Given the description of an element on the screen output the (x, y) to click on. 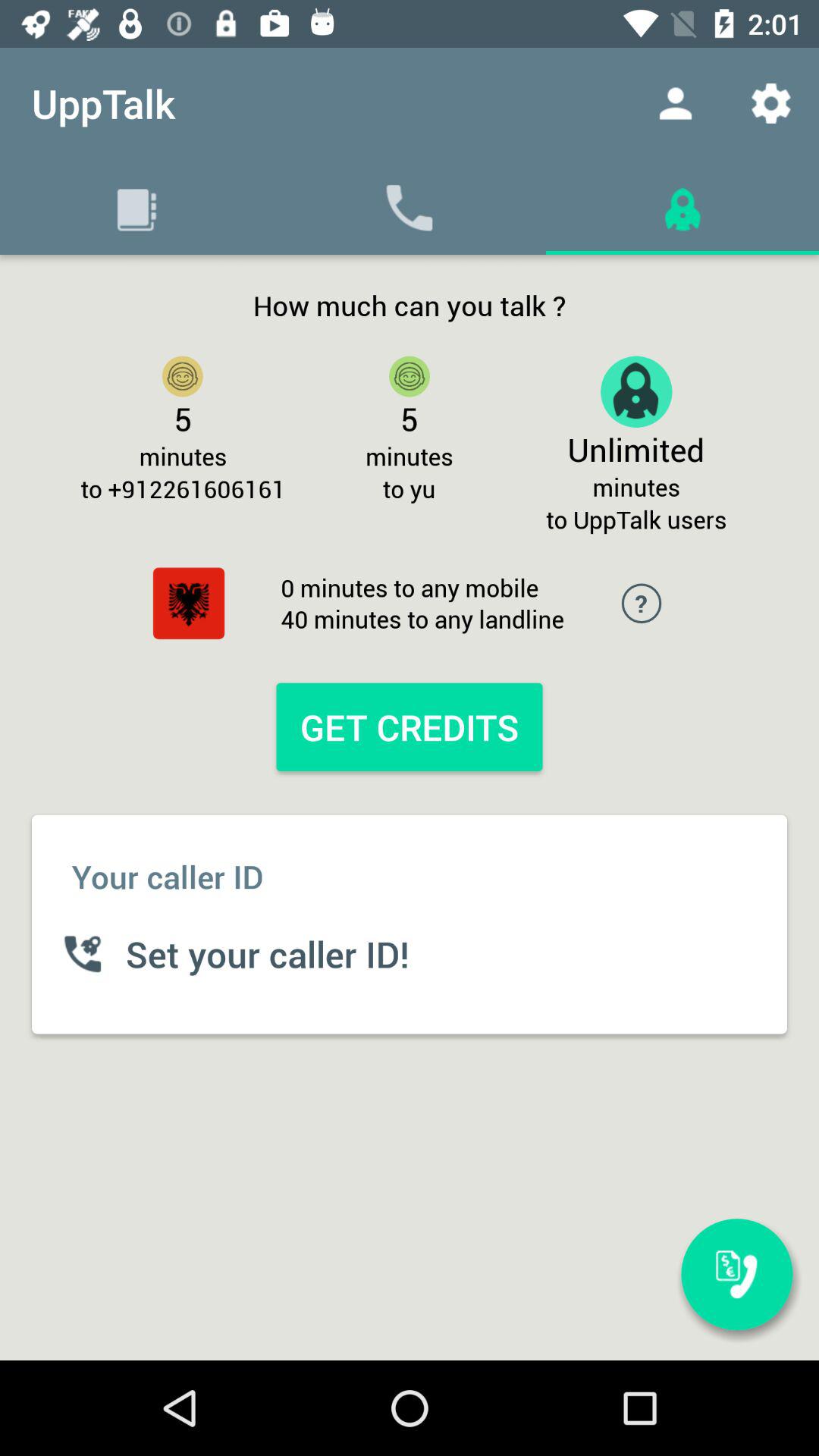
contact number (737, 1274)
